Given the description of an element on the screen output the (x, y) to click on. 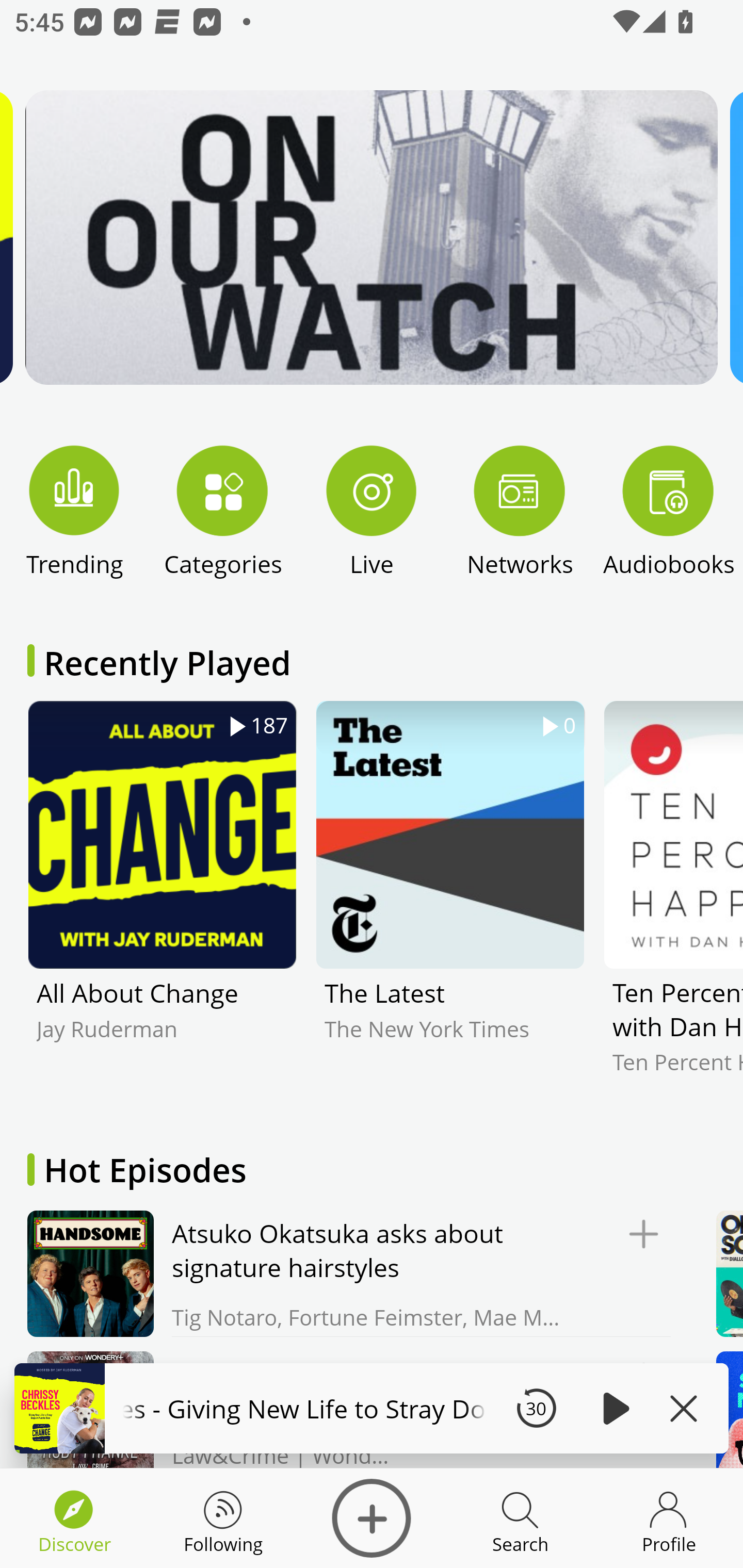
187 All About Change Jay Ruderman (162, 902)
0 The Latest The New York Times (450, 902)
Meet the Frankes | 1 Law&Crime | Wondery (344, 1409)
Play (613, 1407)
30 Seek Backward (536, 1407)
Discover Following (222, 1518)
Discover (371, 1518)
Discover Search (519, 1518)
Discover Profile (668, 1518)
